Given the description of an element on the screen output the (x, y) to click on. 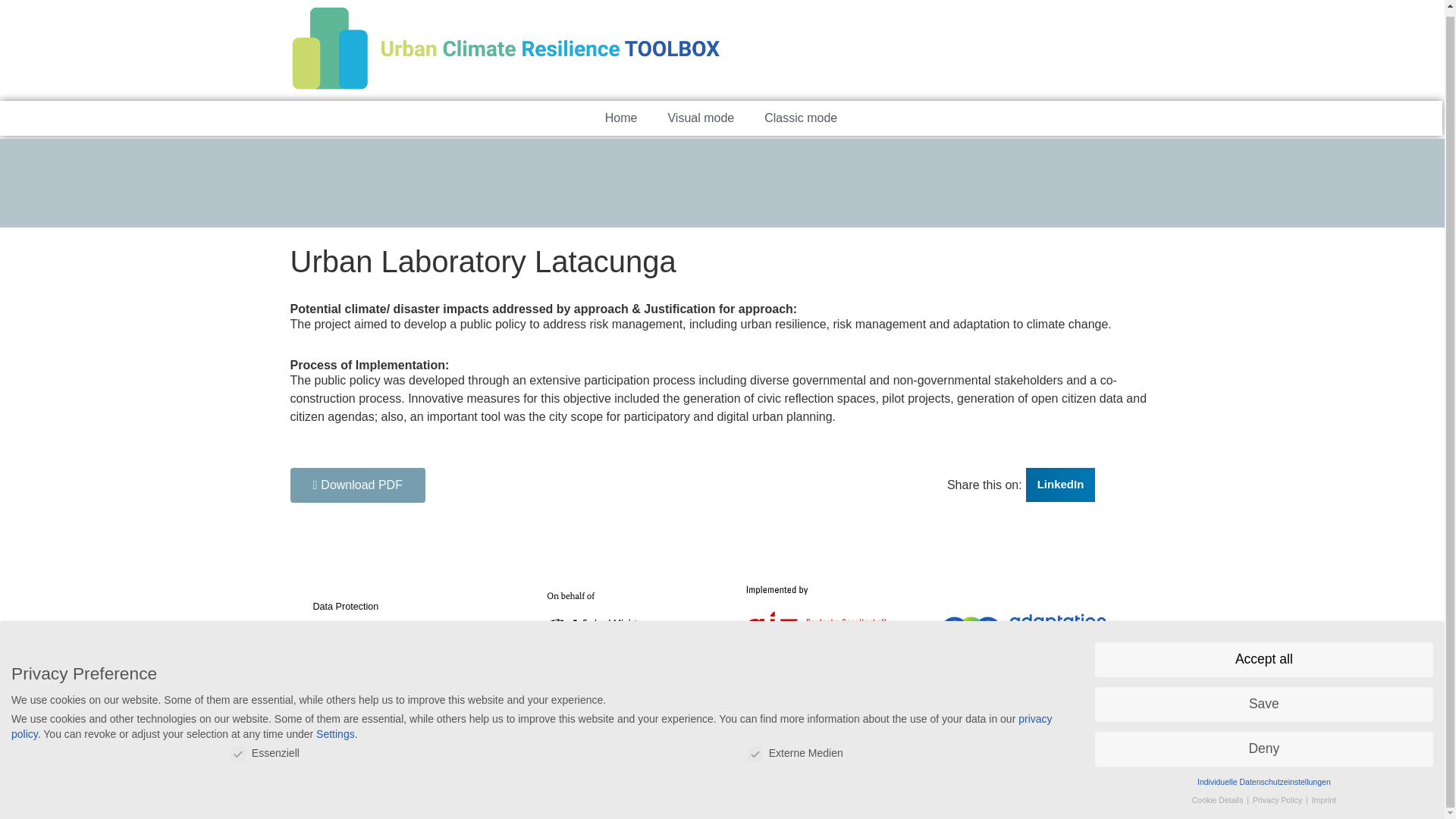
privacy policy (531, 720)
Accept all (1263, 654)
Imprint (1323, 794)
Cookie Details (1219, 794)
Individuelle Datenschutzeinstellungen (1263, 776)
Privacy Policy (1278, 794)
Deny (1263, 743)
Disclaimer (397, 630)
Visual mode (700, 117)
Settings (335, 728)
Home (620, 117)
Registration Information (397, 654)
Data Protection (397, 606)
Download PDF (357, 484)
Save (1263, 698)
